Given the description of an element on the screen output the (x, y) to click on. 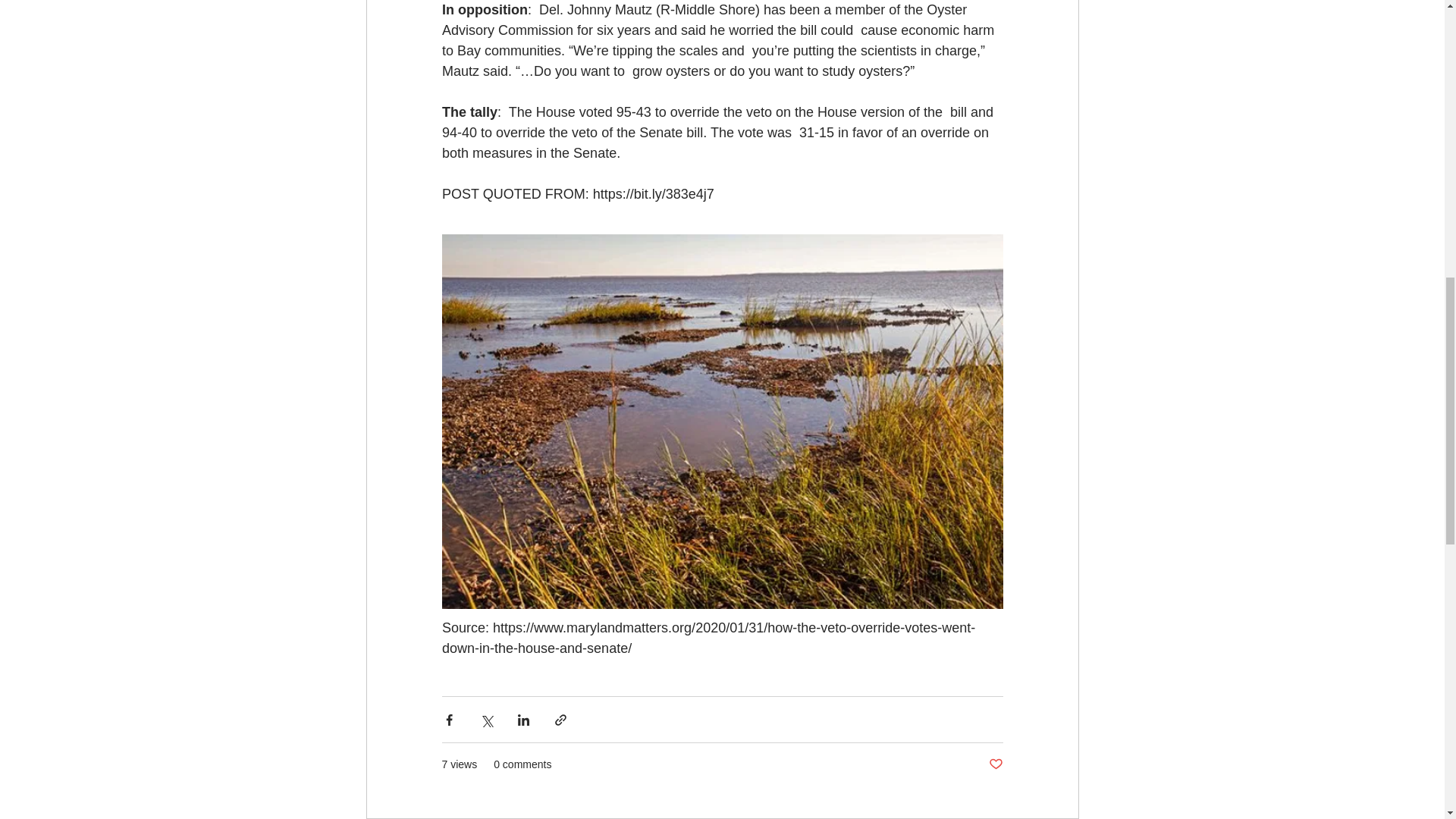
Post not marked as liked (995, 764)
